Given the description of an element on the screen output the (x, y) to click on. 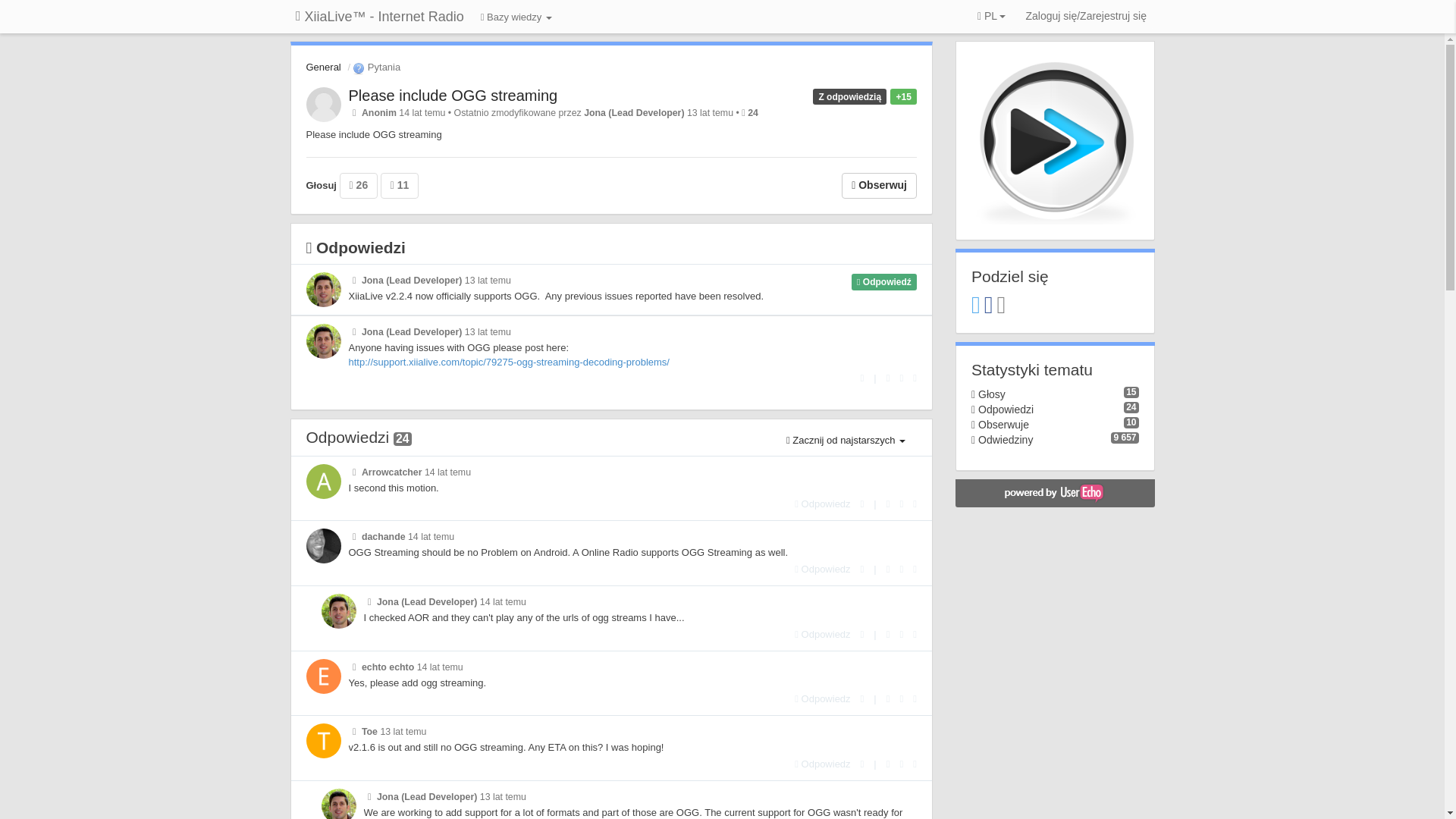
General (322, 66)
Bazy wiedzy (516, 17)
Please include OGG streaming (453, 95)
Pytania (375, 66)
Anonim (378, 112)
PL (991, 16)
